Given the description of an element on the screen output the (x, y) to click on. 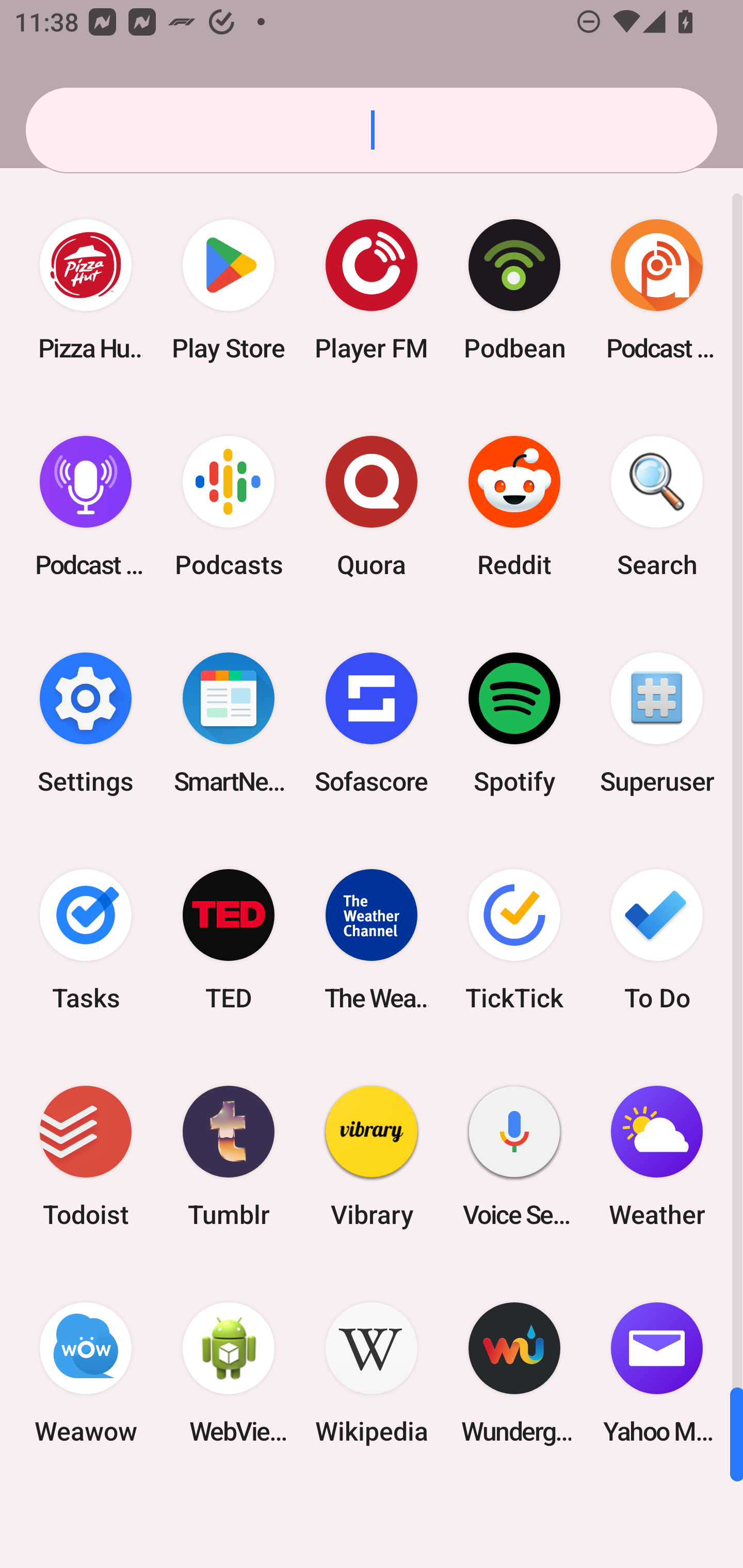
  Search apps (371, 130)
Pizza Hut HK & Macau (85, 289)
Play Store (228, 289)
Player FM (371, 289)
Podbean (514, 289)
Podcast Addict (656, 289)
Podcast Player (85, 506)
Podcasts (228, 506)
Quora (371, 506)
Reddit (514, 506)
Search (656, 506)
Settings (85, 722)
SmartNews (228, 722)
Sofascore (371, 722)
Spotify (514, 722)
Superuser (656, 722)
Tasks (85, 939)
TED (228, 939)
The Weather Channel (371, 939)
TickTick (514, 939)
To Do (656, 939)
Todoist (85, 1156)
Tumblr (228, 1156)
Vibrary (371, 1156)
Voice Search (514, 1156)
Weather (656, 1156)
Weawow (85, 1373)
WebView Browser Tester (228, 1373)
Wikipedia (371, 1373)
Wunderground (514, 1373)
Yahoo Mail (656, 1373)
